Given the description of an element on the screen output the (x, y) to click on. 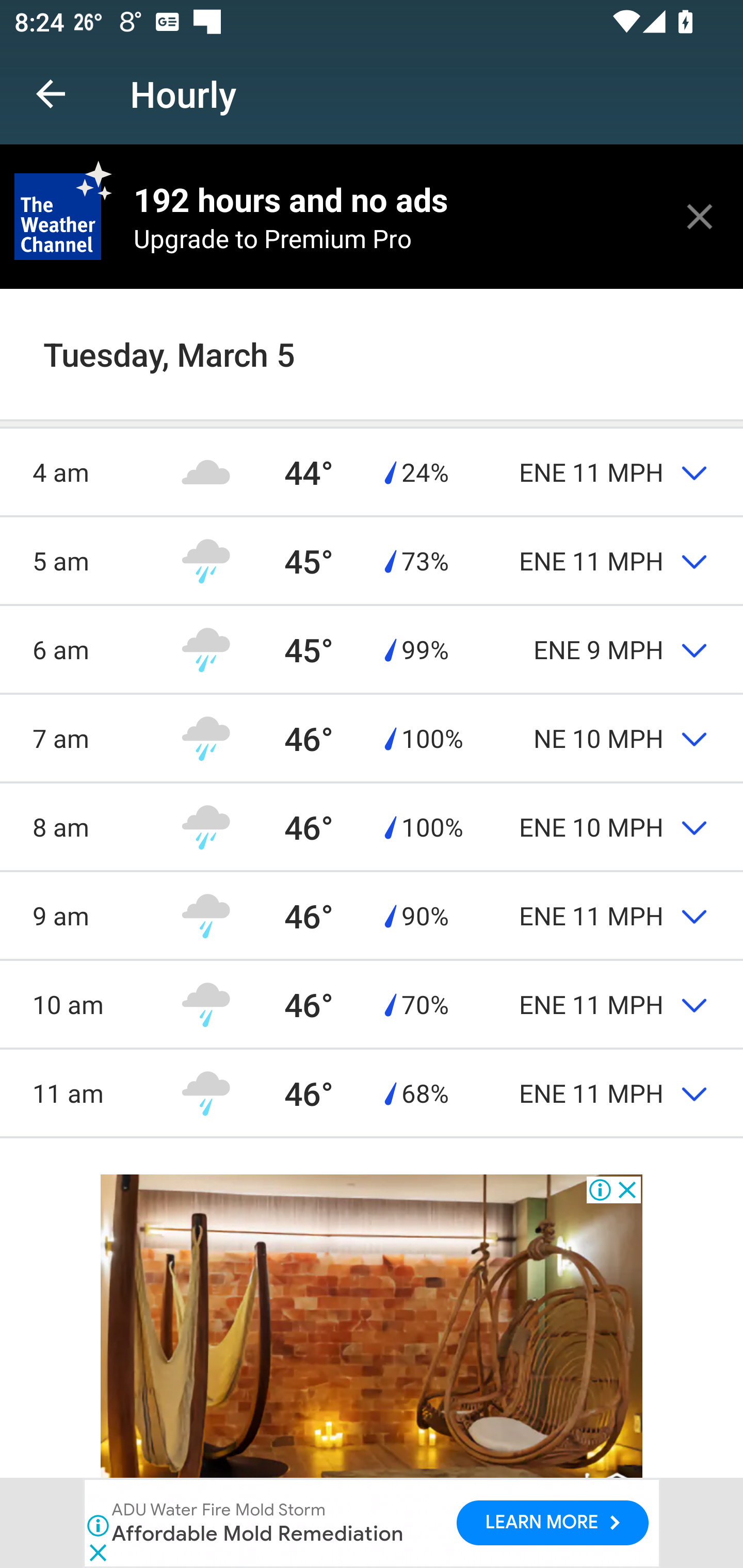
Navigate up (50, 93)
close this (699, 216)
4 am 44° 24% ENE 11 MPH (371, 471)
5 am 45° 73% ENE 11 MPH (371, 560)
6 am 45° 99% ENE 9 MPH (371, 649)
7 am 46° 100% NE 10 MPH (371, 737)
8 am 46° 100% ENE 10 MPH (371, 827)
9 am 46° 90% ENE 11 MPH (371, 915)
10 am 46° 70% ENE 11 MPH (371, 1004)
11 am 46° 68% ENE 11 MPH (371, 1092)
ADU Water Fire Mold Storm (218, 1510)
LEARN MORE (551, 1522)
Affordable Mold Remediation (258, 1533)
